Given the description of an element on the screen output the (x, y) to click on. 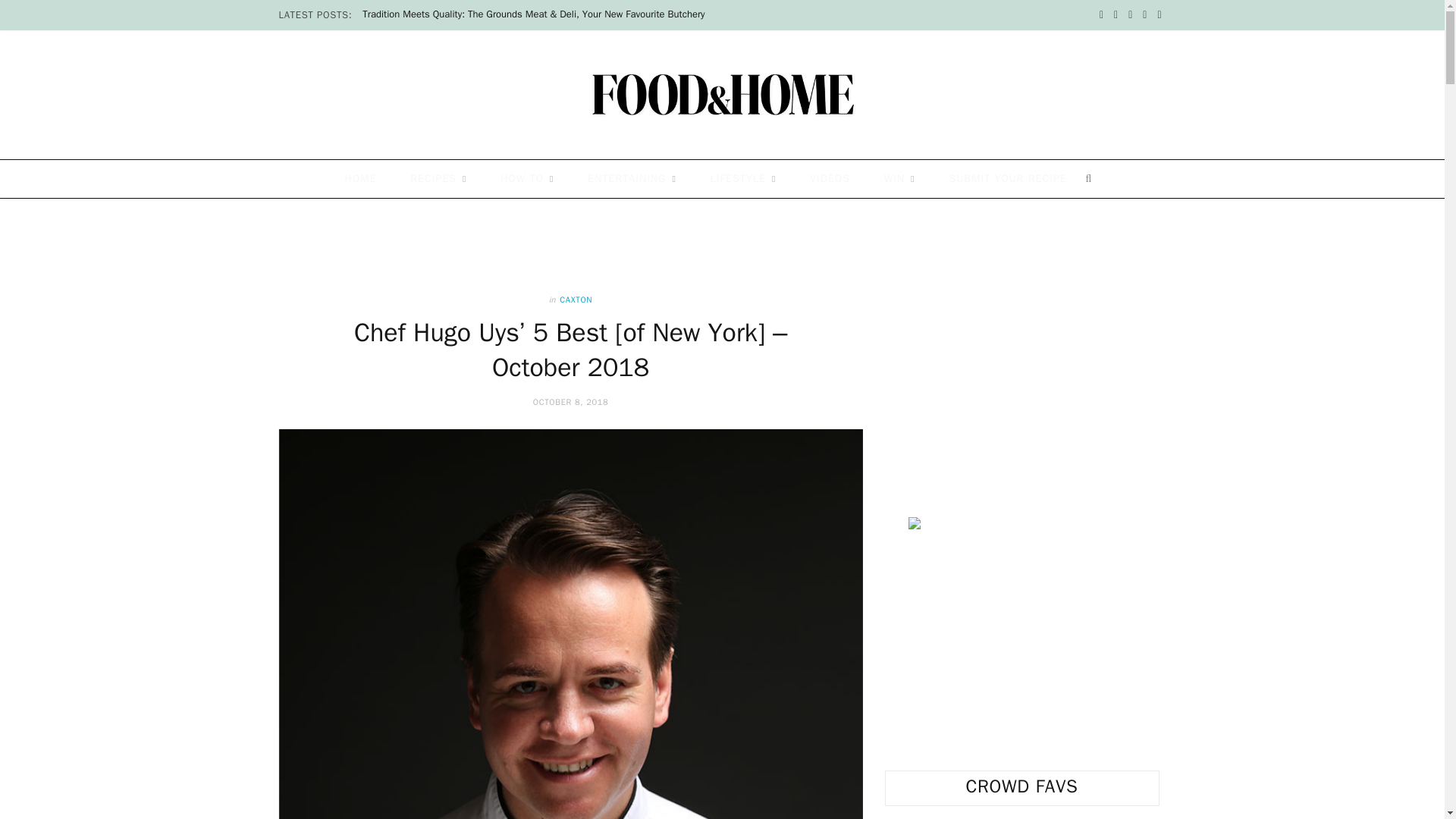
RECIPES (437, 178)
HOME (360, 178)
Facebook (1101, 15)
Search (1093, 178)
Instagram (1130, 15)
YouTube (1159, 15)
Pinterest (1144, 15)
